Given the description of an element on the screen output the (x, y) to click on. 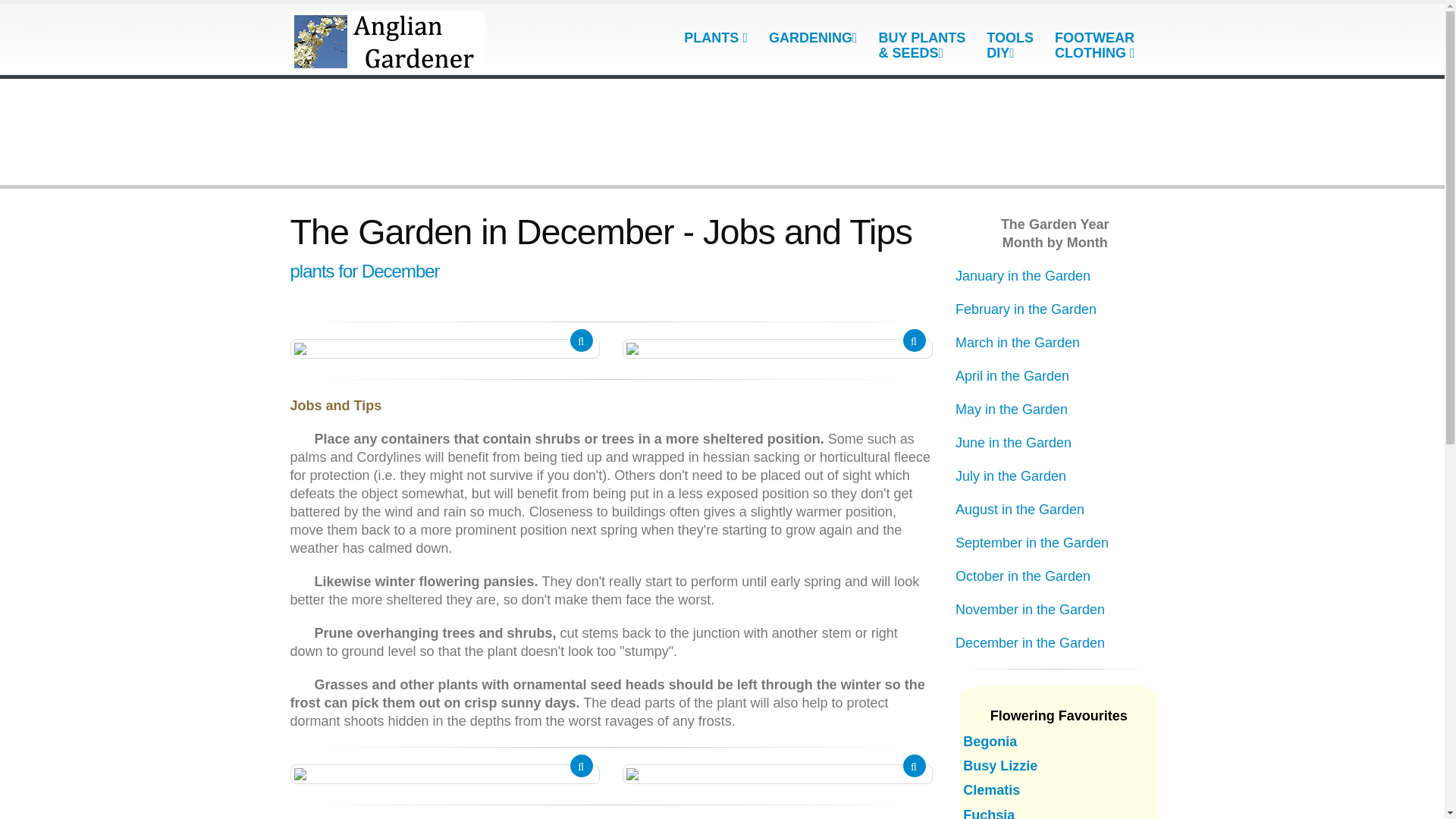
PLANTS (715, 37)
